Given the description of an element on the screen output the (x, y) to click on. 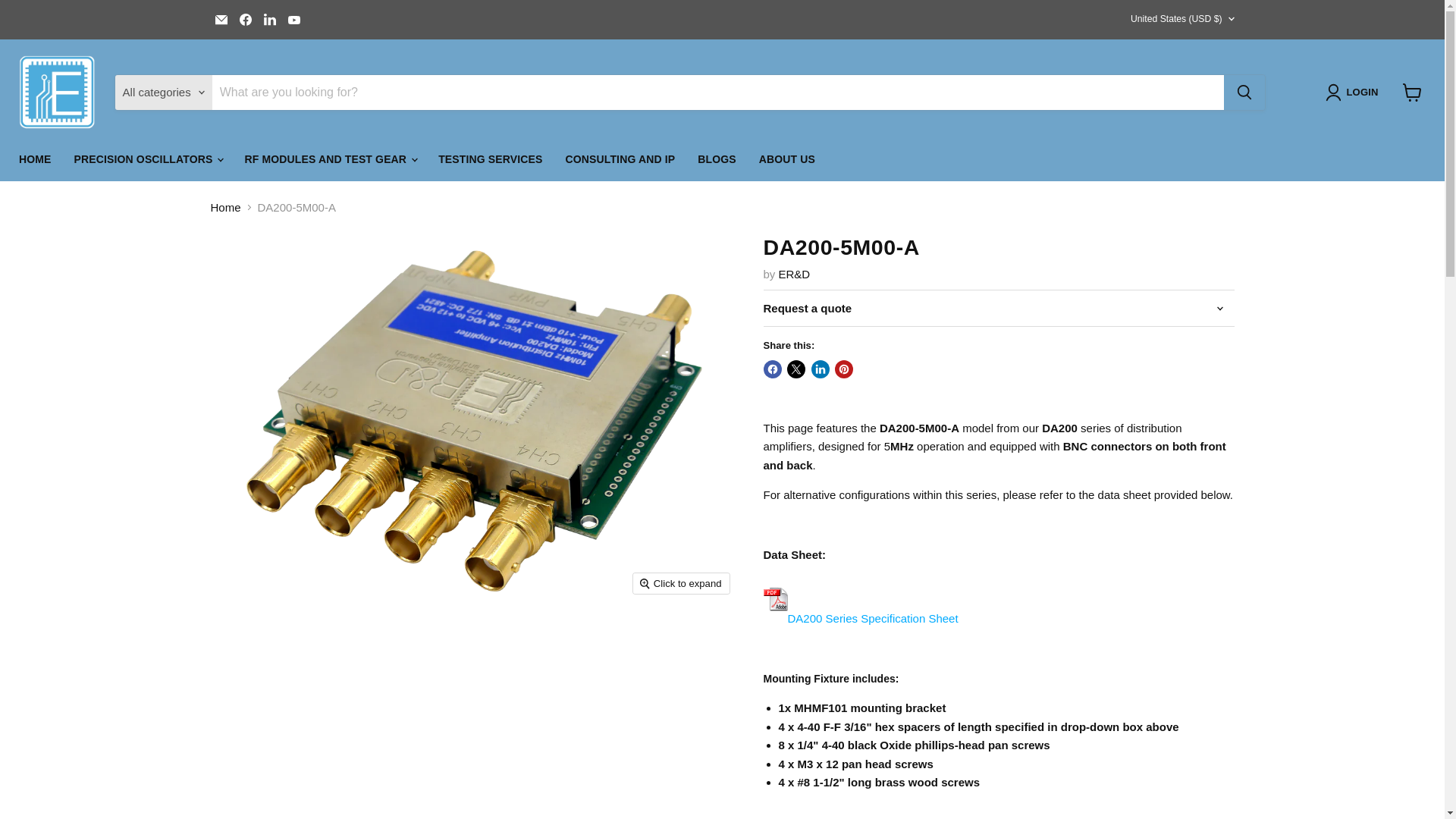
Find us on Facebook (245, 19)
Facebook (245, 19)
Email (221, 19)
YouTube (293, 19)
Find us on LinkedIn (270, 19)
LinkedIn (270, 19)
Find us on YouTube (293, 19)
DA200 Spec Sheet (860, 617)
